Given the description of an element on the screen output the (x, y) to click on. 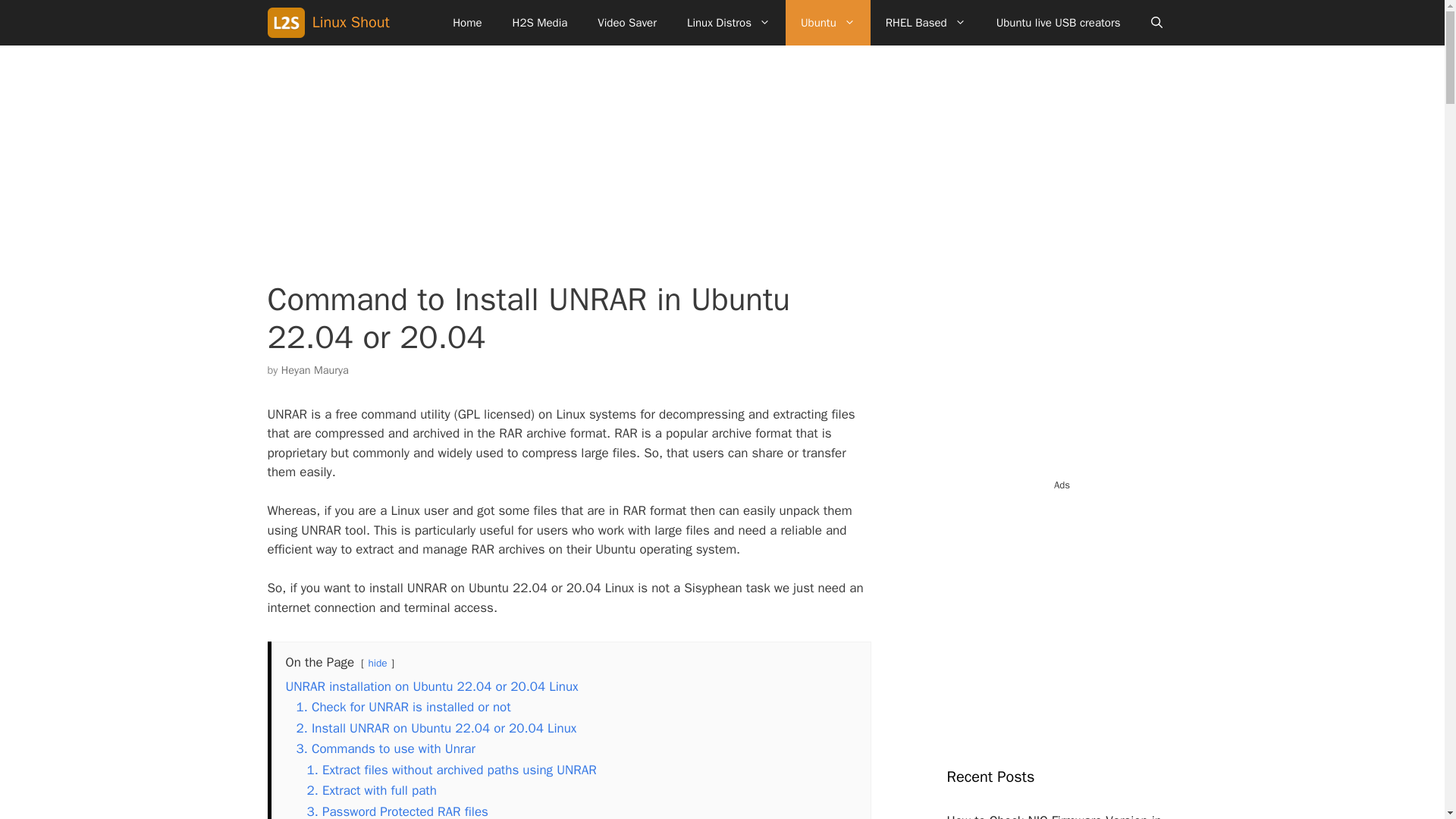
Video Saver (626, 22)
Linux Shout (351, 22)
Linux Distros (728, 22)
H2S Media (540, 22)
Linux Shout (288, 22)
Linux Distros (728, 22)
Home (467, 22)
Ubuntu Linux (828, 22)
View all posts by Heyan Maurya (315, 369)
